Given the description of an element on the screen output the (x, y) to click on. 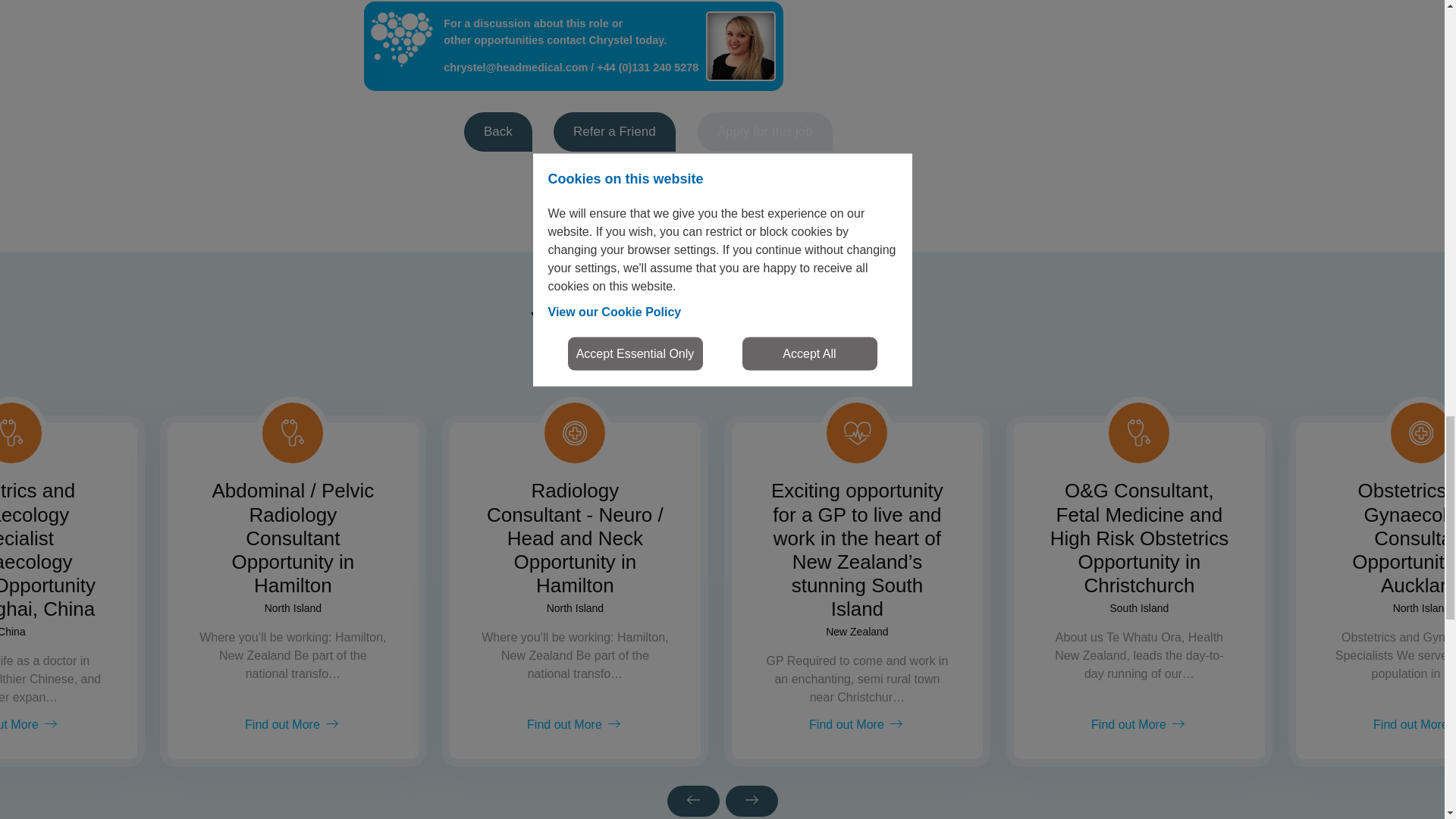
Apply for this job (764, 131)
Back (498, 131)
Refer a Friend (614, 131)
